Given the description of an element on the screen output the (x, y) to click on. 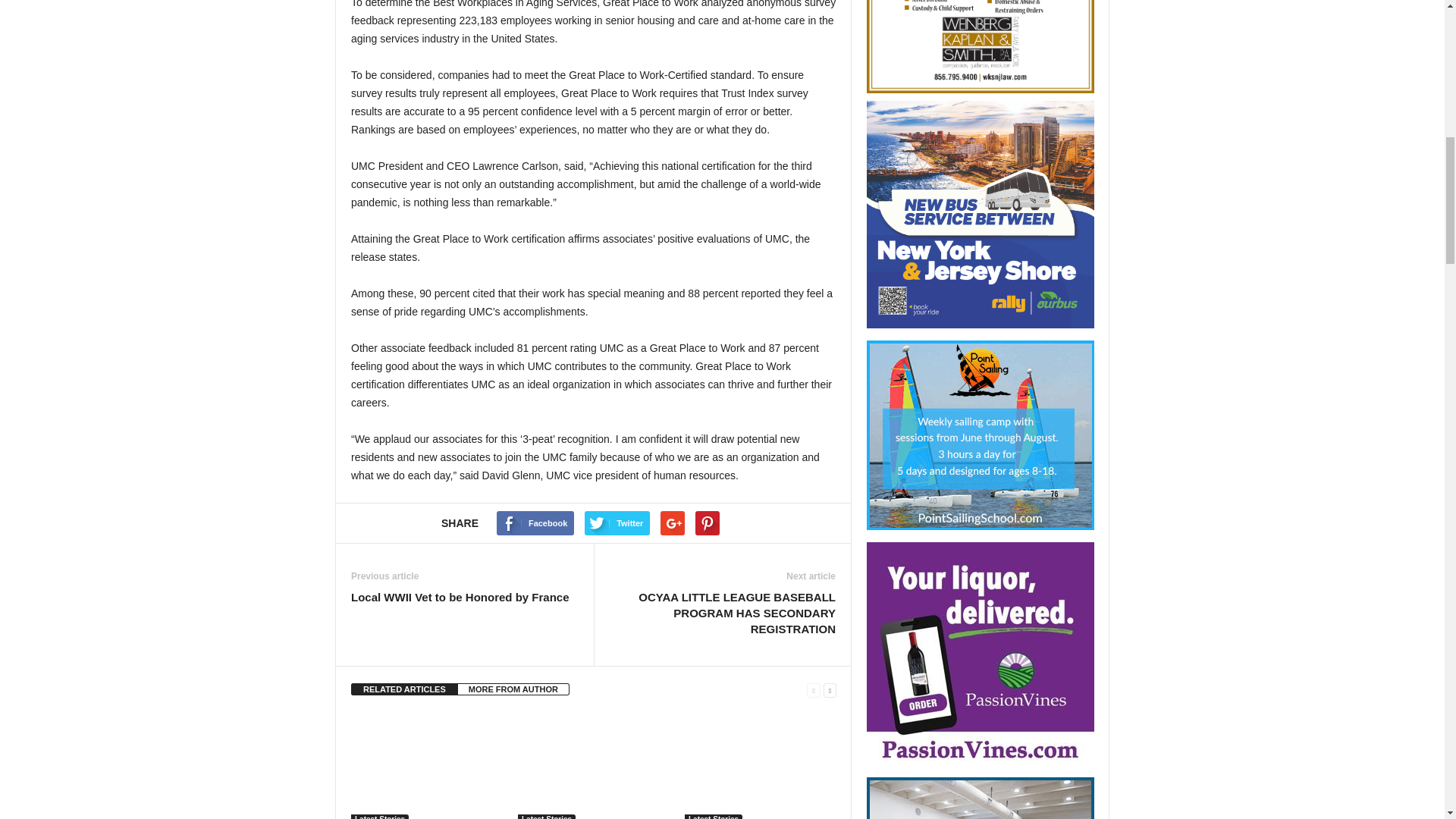
Landmark Moorlyn Theatre Reopens in Ocean City (426, 765)
